Given the description of an element on the screen output the (x, y) to click on. 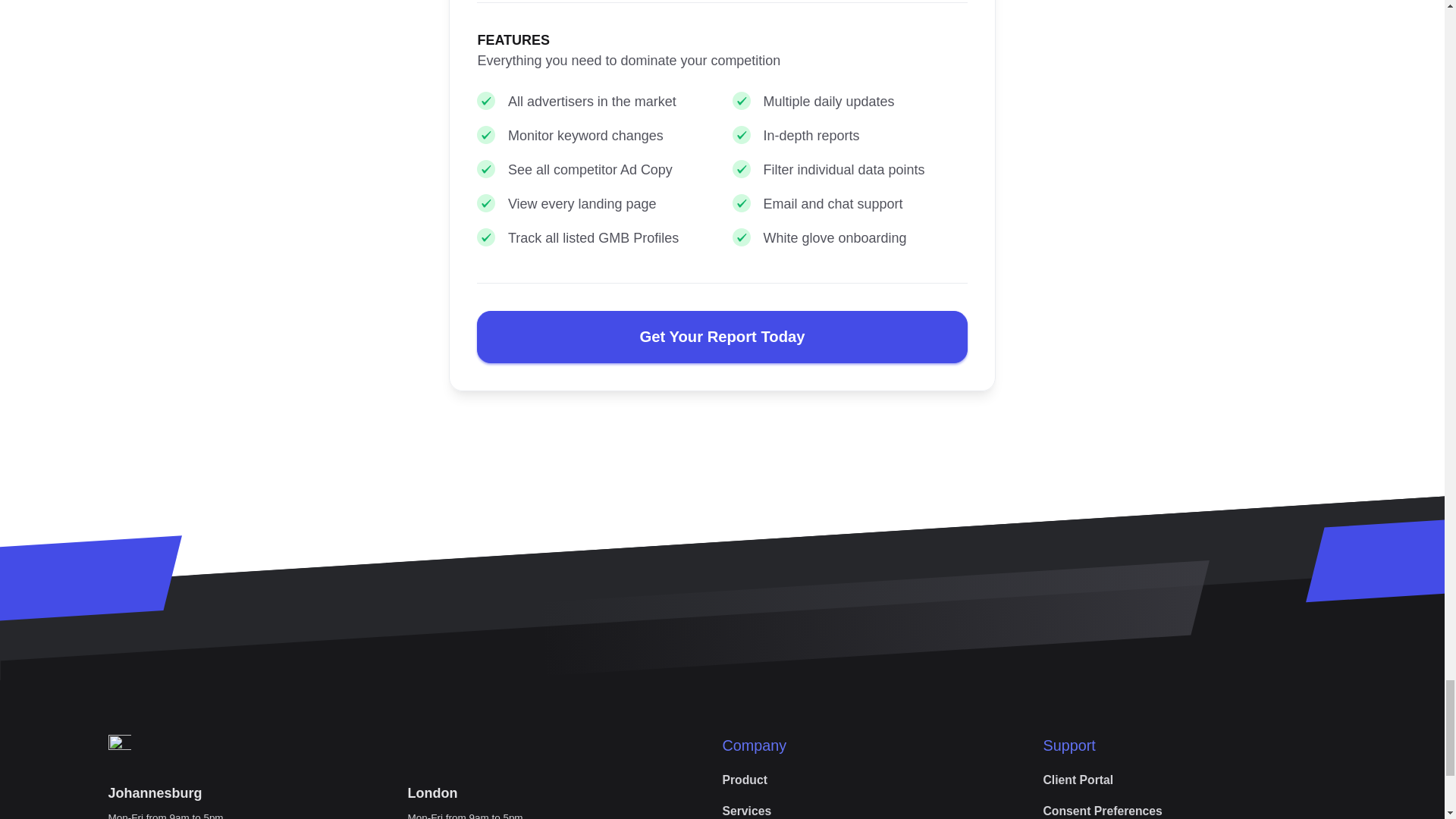
Client Portal (1077, 780)
Product (744, 780)
Services (746, 807)
Consent Preferences (1101, 807)
Get Your Report Today (721, 336)
